Given the description of an element on the screen output the (x, y) to click on. 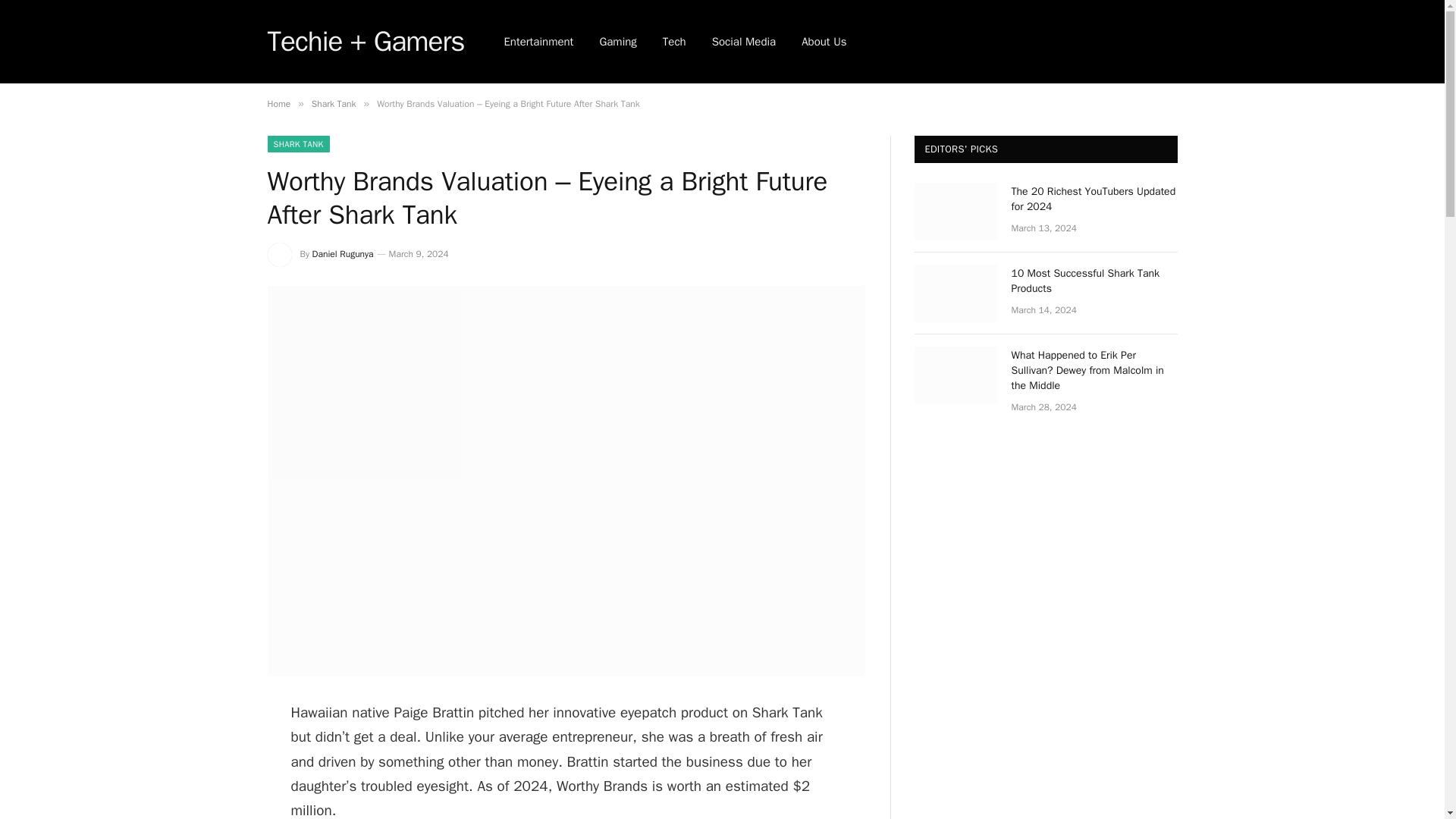
10 Most Successful Shark Tank Products (955, 293)
The 20 Richest YouTubers Updated for 2024 (1094, 199)
Shark Tank (333, 103)
SHARK TANK (297, 143)
Entertainment (538, 41)
Social Media (743, 41)
Home (277, 103)
Posts by Daniel Rugunya (343, 254)
10 Most Successful Shark Tank Products (1094, 281)
